Given the description of an element on the screen output the (x, y) to click on. 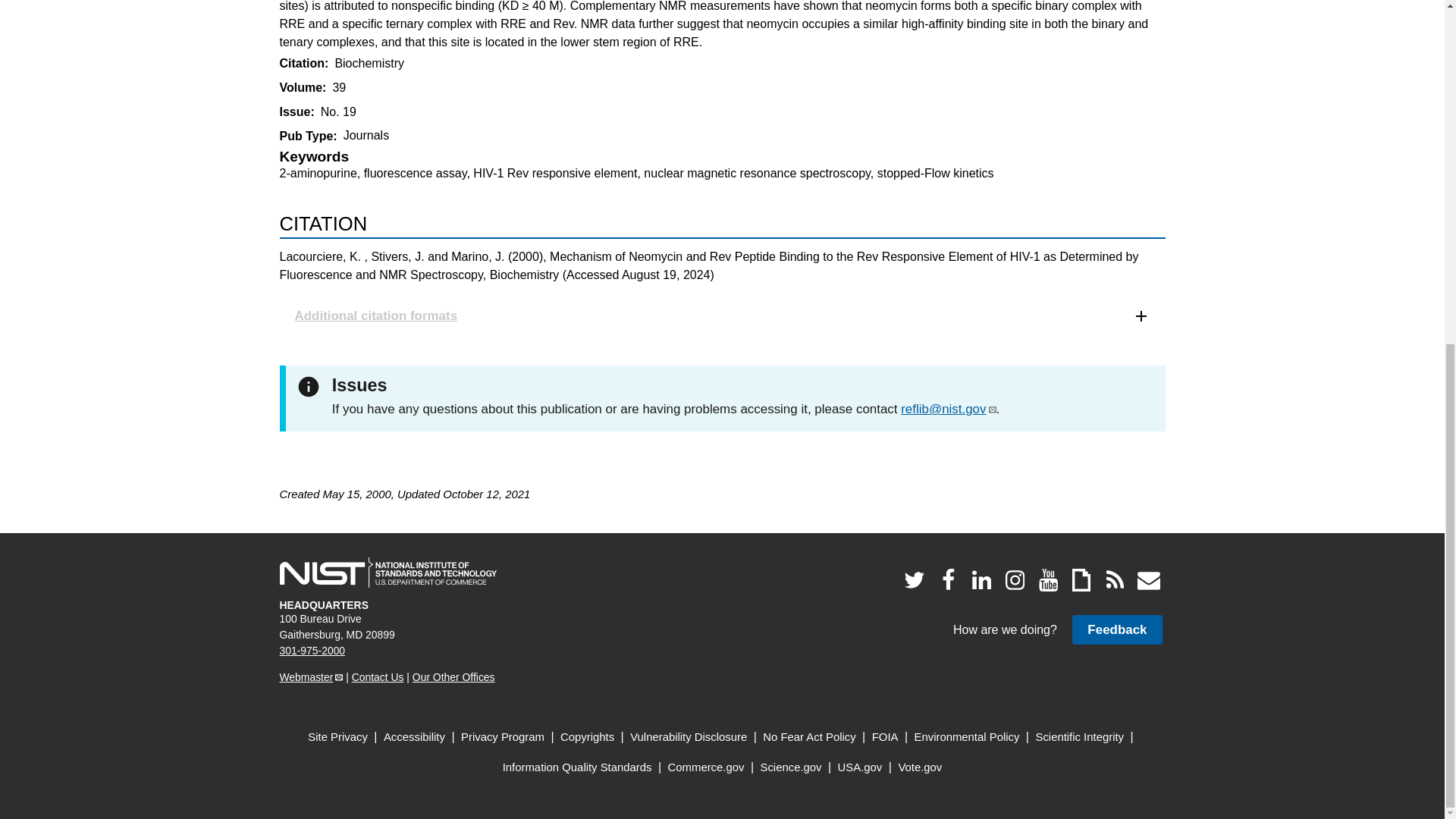
FOIA (885, 736)
Accessibility (414, 736)
Scientific Integrity (1079, 736)
Provide feedback (1116, 629)
Vulnerability Disclosure (688, 736)
Contact Us (378, 676)
301-975-2000 (312, 650)
Additional citation formats (721, 315)
Feedback (1116, 629)
Webmaster (310, 676)
